Given the description of an element on the screen output the (x, y) to click on. 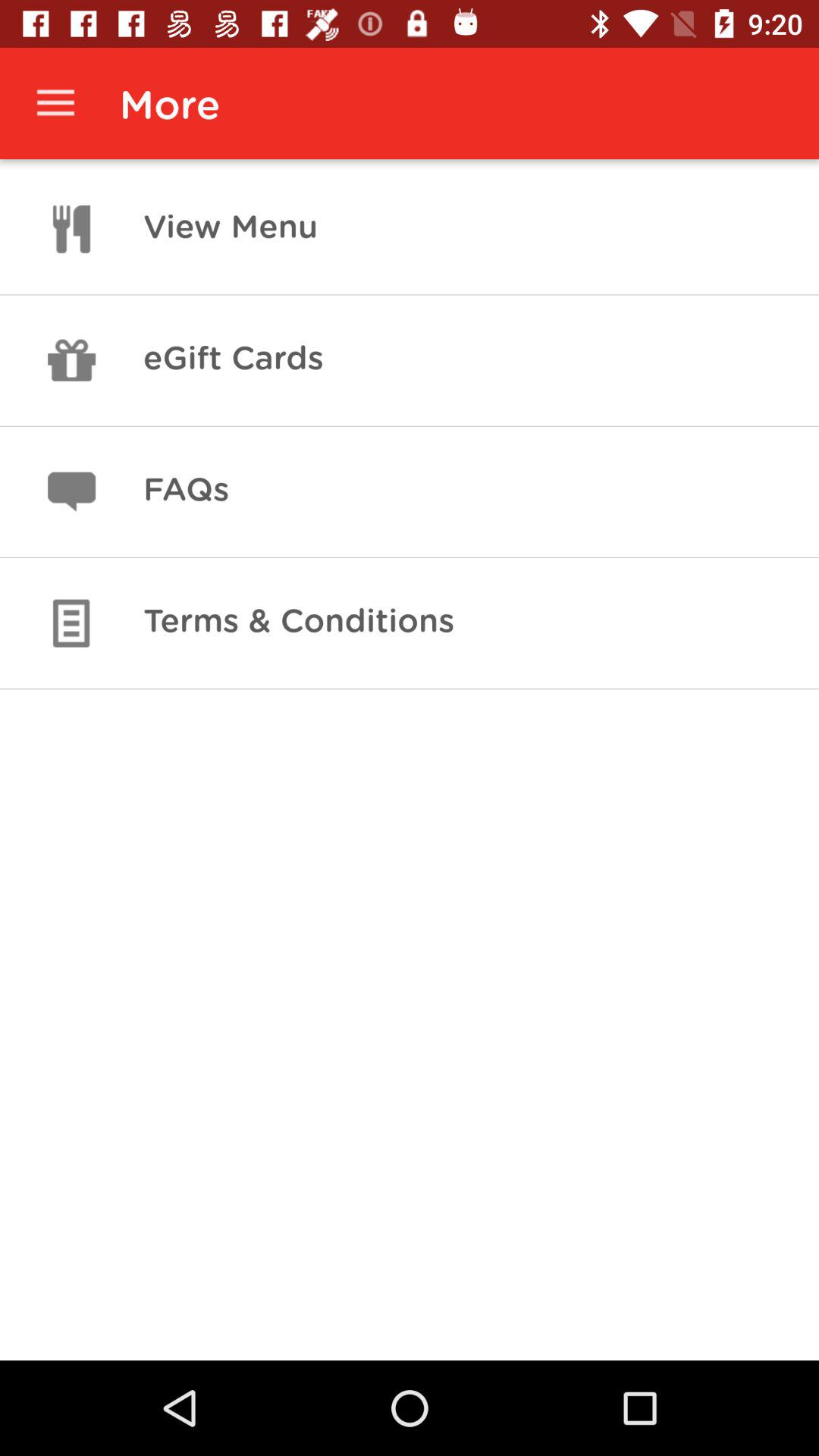
tap item above faqs icon (233, 360)
